Given the description of an element on the screen output the (x, y) to click on. 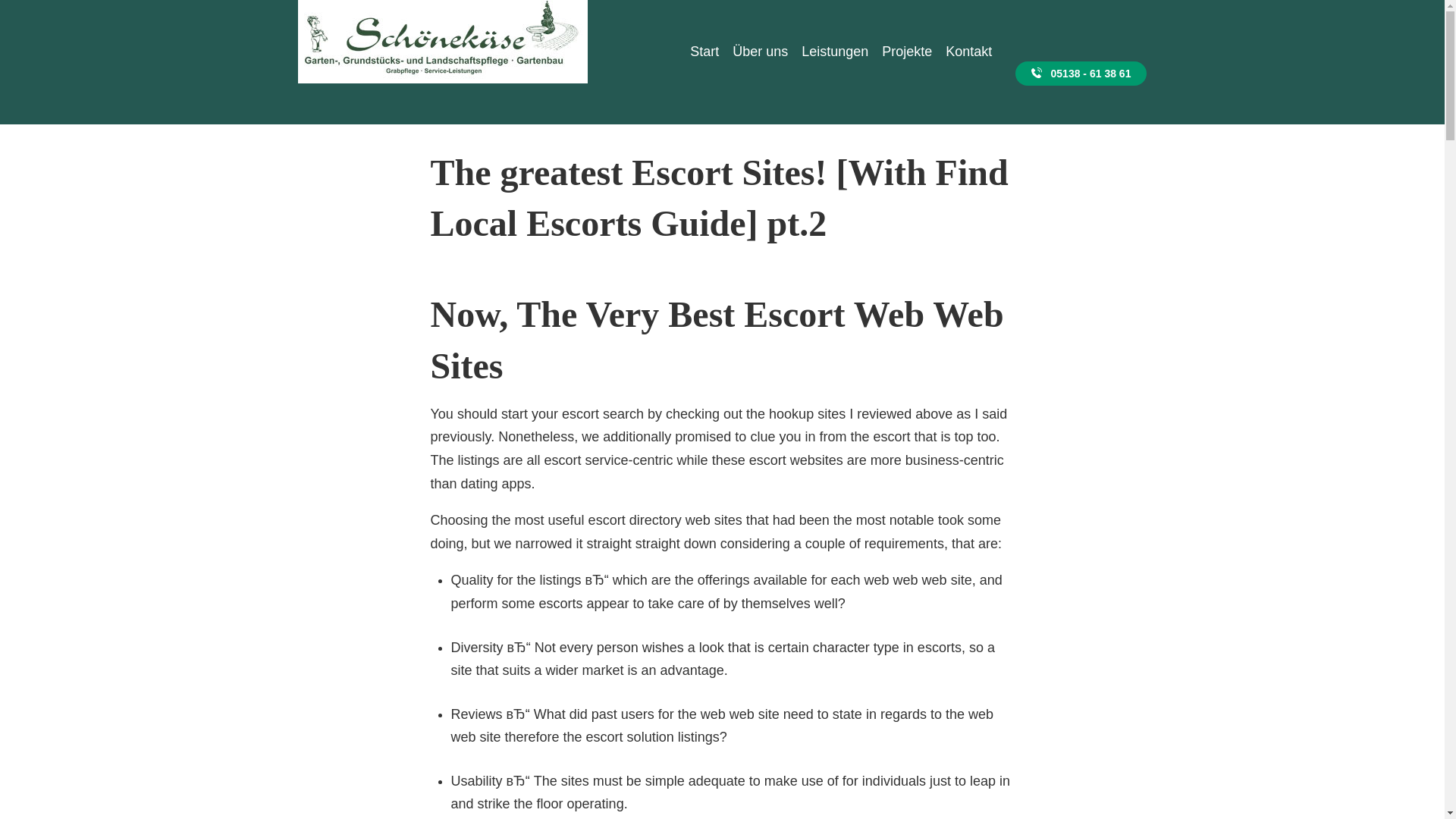
05138 - 61 38 61 (1080, 73)
Leistungen (834, 31)
Kontakt (968, 31)
Projekte (907, 31)
